Given the description of an element on the screen output the (x, y) to click on. 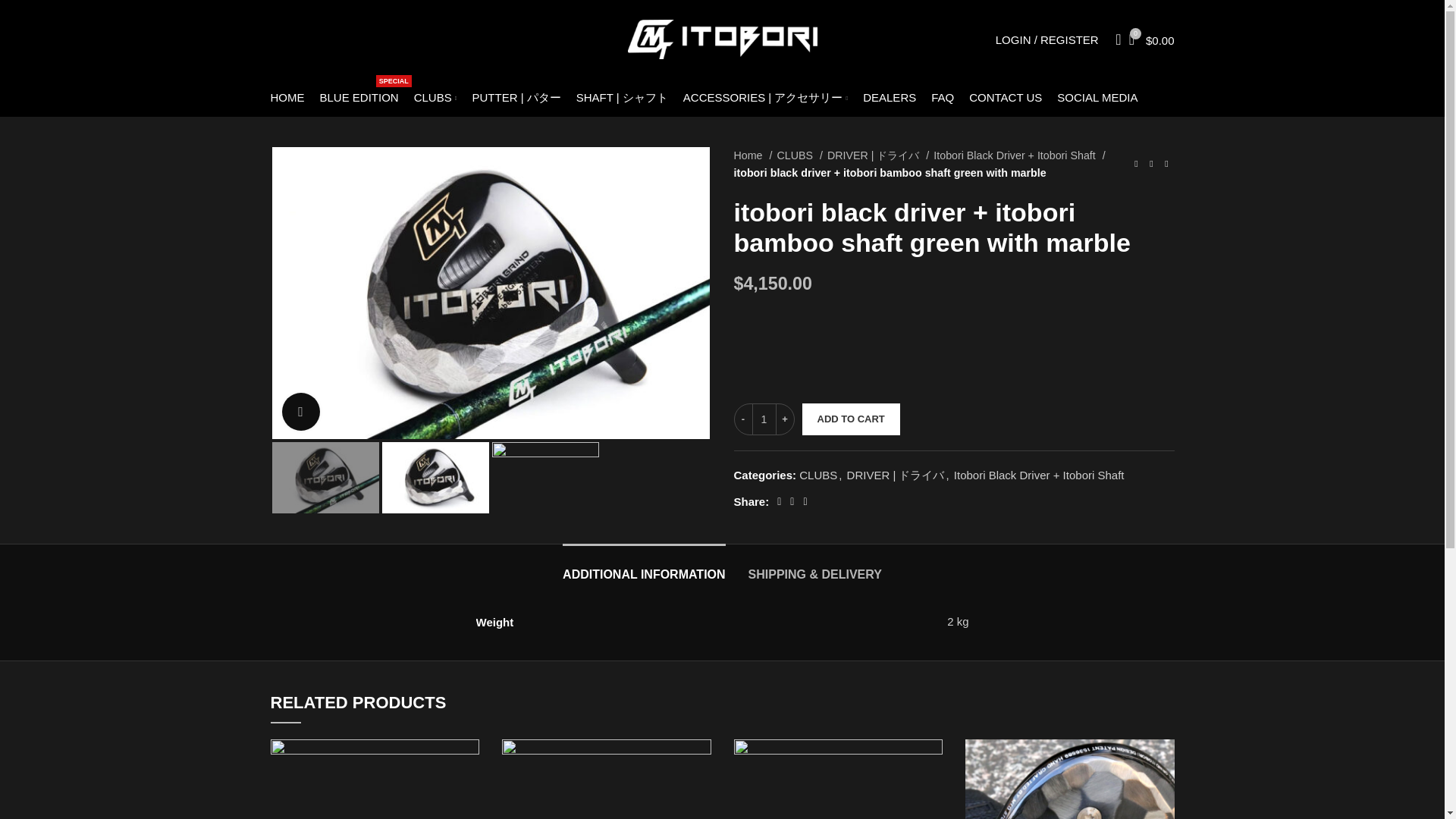
My account (1047, 39)
CONTACT US (359, 97)
Log in (1005, 97)
Home (973, 284)
Shopping cart (753, 155)
HOME (1151, 39)
DEALERS (286, 97)
CLUBS (889, 97)
SOCIAL MEDIA (435, 97)
